Given the description of an element on the screen output the (x, y) to click on. 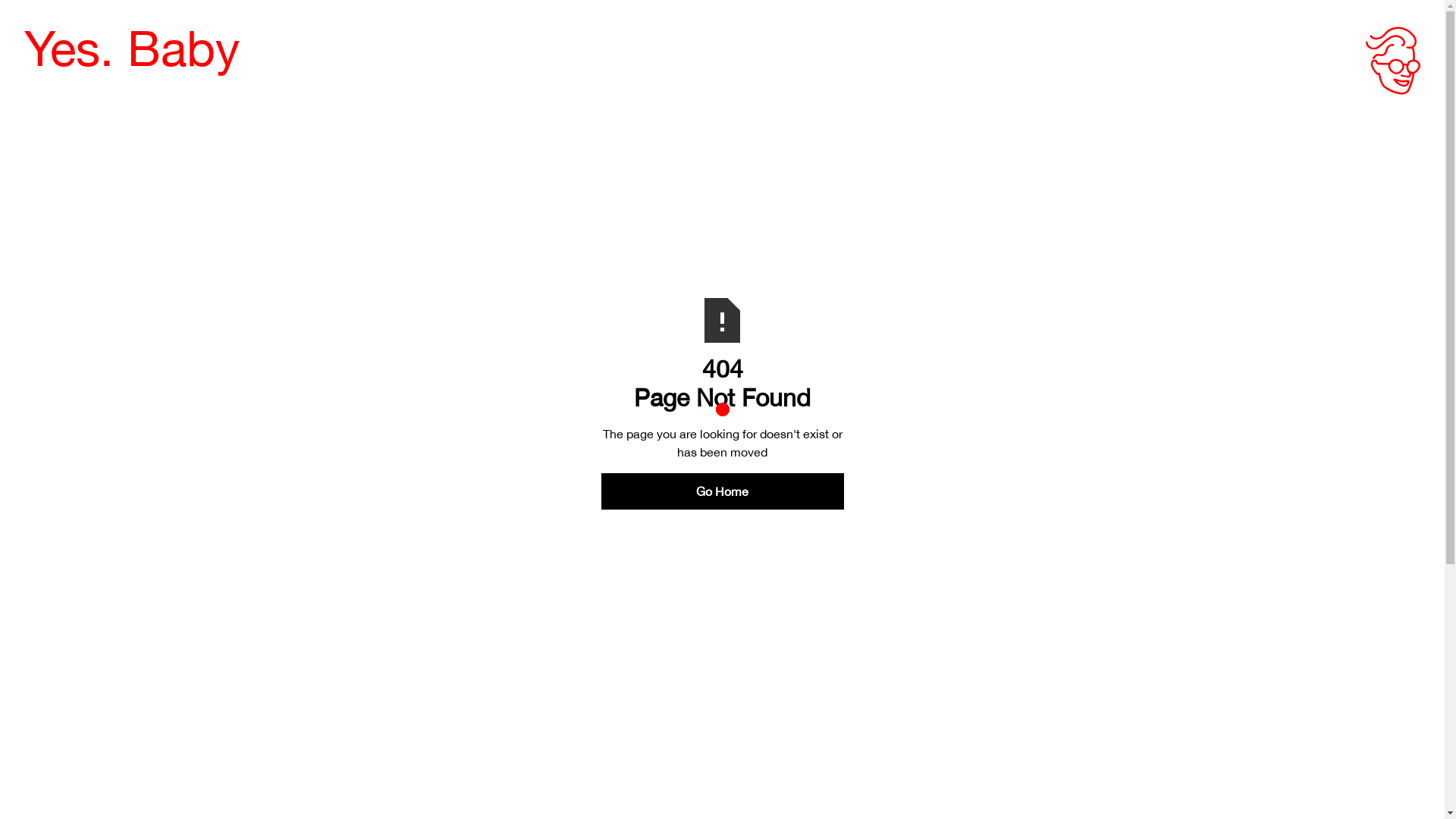
Go Home Element type: text (721, 491)
Yes. Baby Element type: text (131, 48)
